Given the description of an element on the screen output the (x, y) to click on. 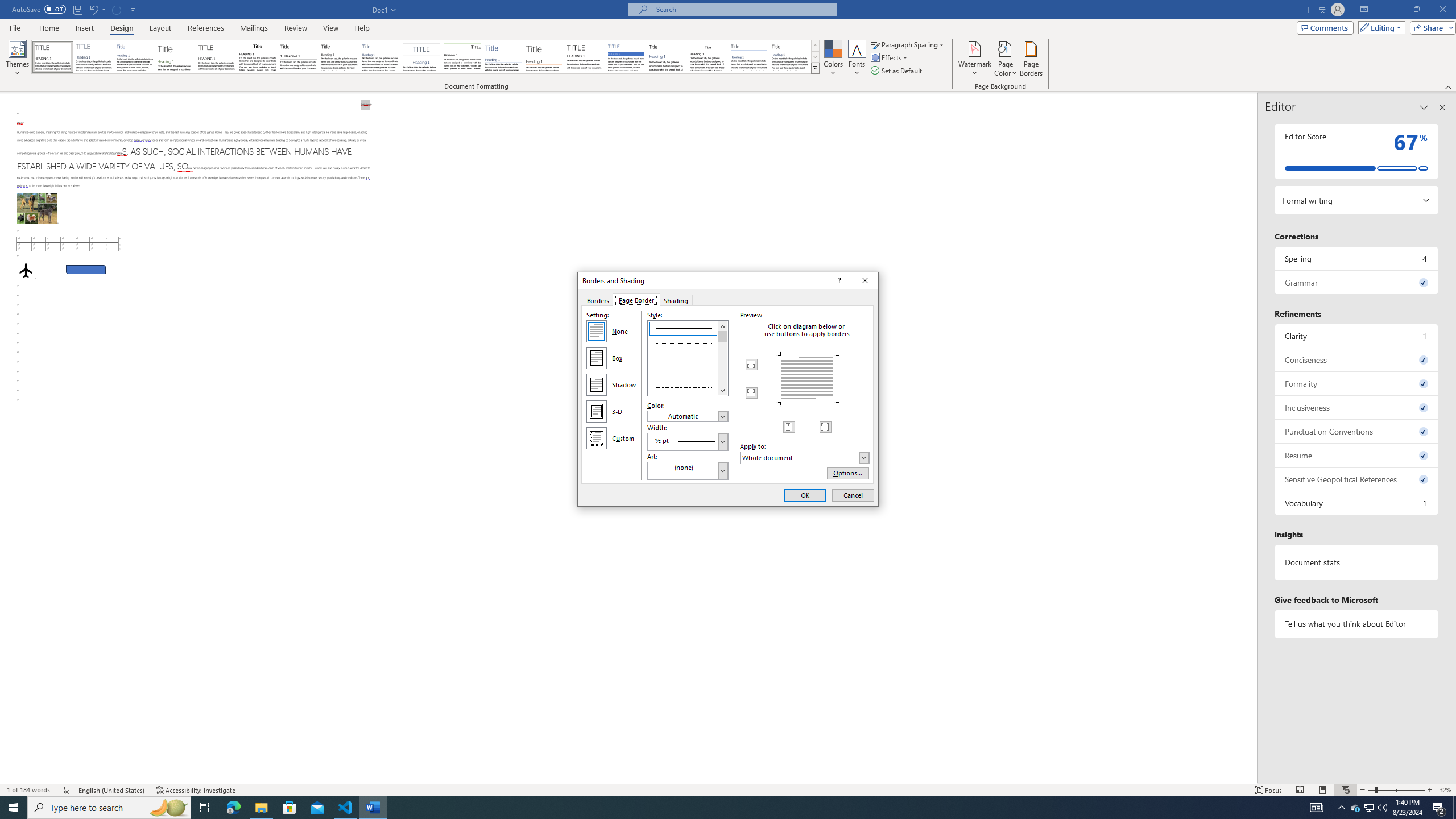
Colors (832, 58)
Notification Chevron (1341, 807)
Page Borders... (1031, 58)
Page down (722, 363)
Basic (Simple) (135, 56)
Line down (722, 390)
Black & White (Numbered) (298, 56)
Tell us what you think about Editor (1356, 624)
Grammar, 0 issues. Press space or enter to review items. (1356, 282)
Shadow (596, 384)
Black & White (Classic) (257, 56)
